Given the description of an element on the screen output the (x, y) to click on. 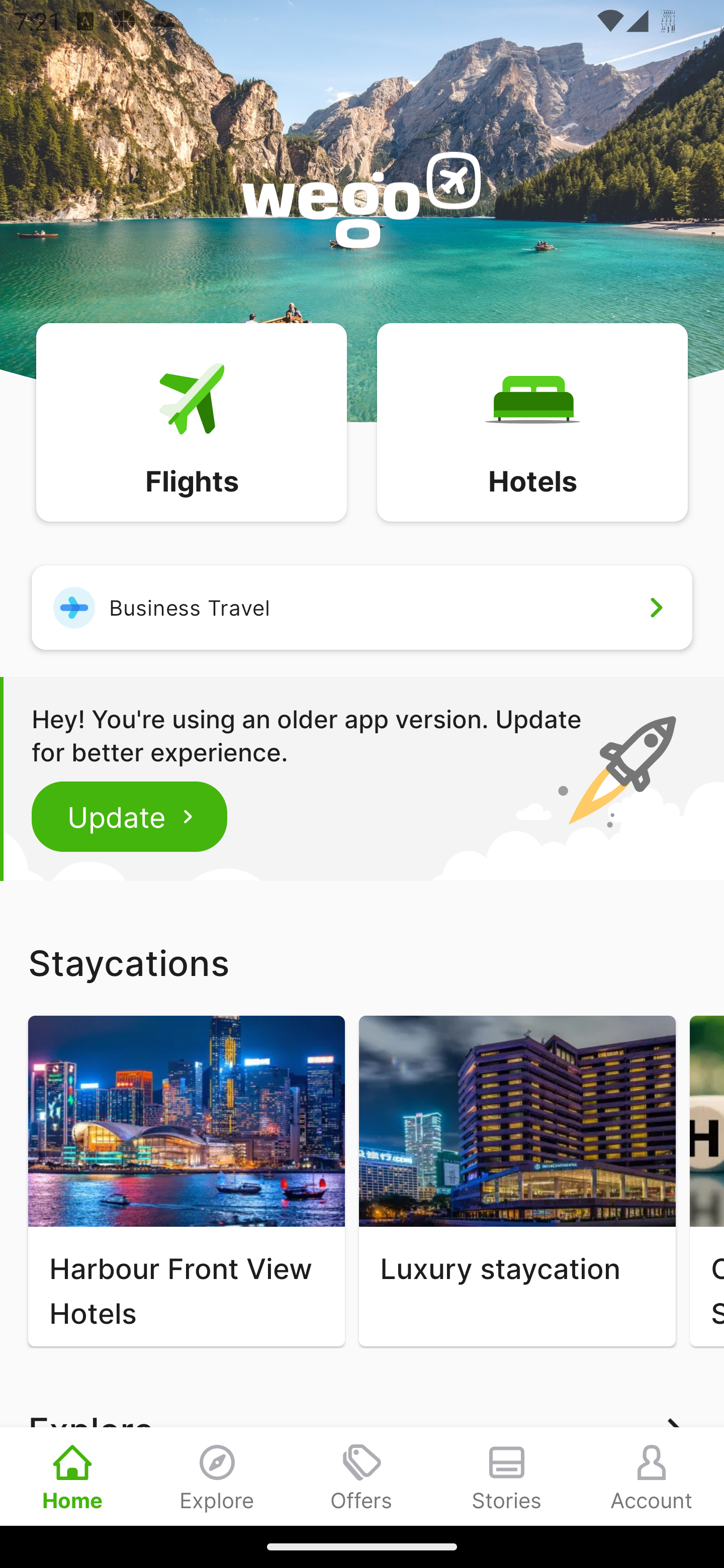
Flights (191, 420)
Hotels (532, 420)
Business Travel (361, 607)
Update (129, 815)
Staycations (362, 962)
Harbour Front View Hotels (186, 1181)
Luxury staycation (517, 1181)
Explore (216, 1475)
Offers (361, 1475)
Stories (506, 1475)
Account (651, 1475)
